Given the description of an element on the screen output the (x, y) to click on. 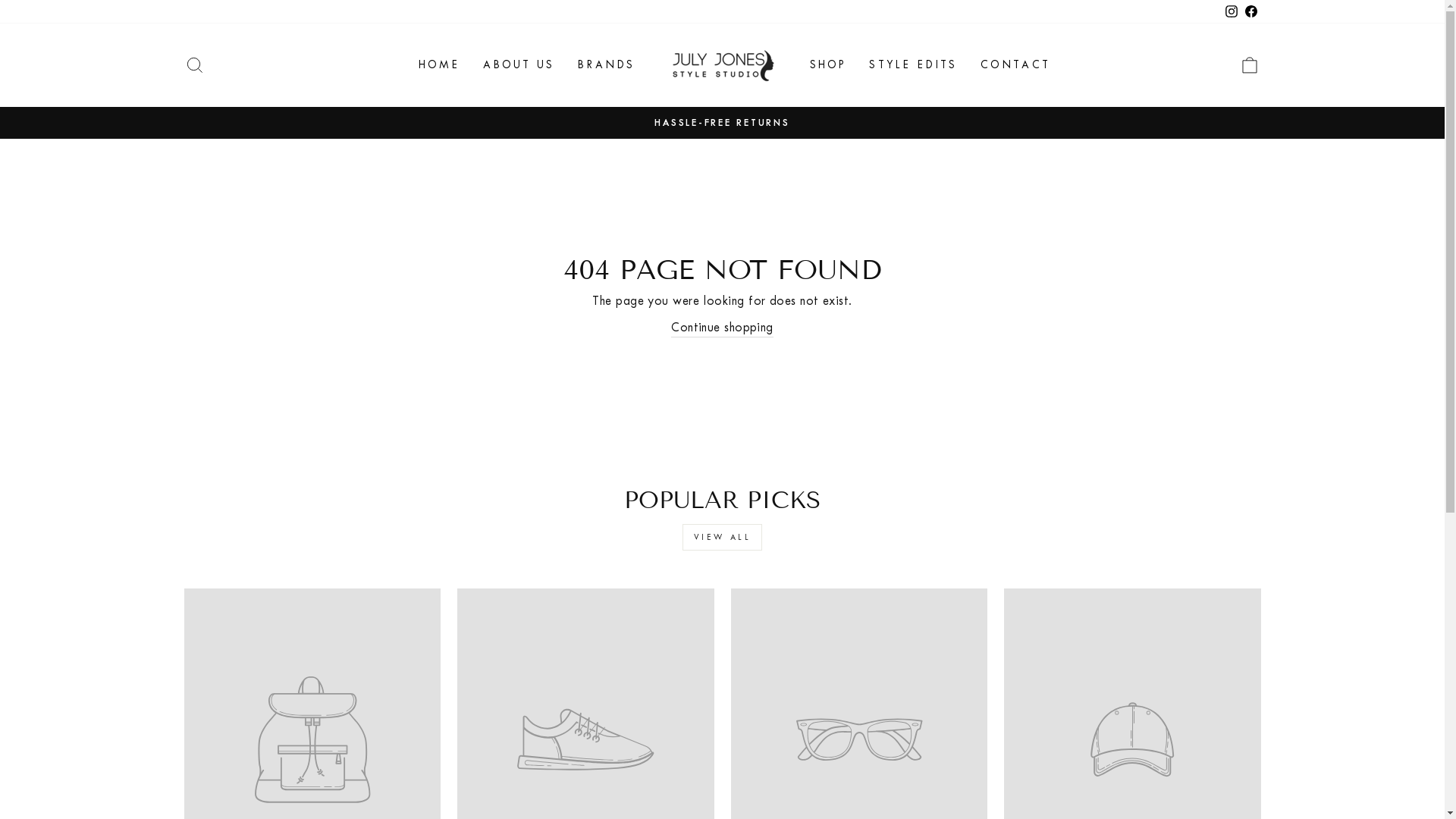
Continue shopping Element type: text (722, 327)
CONTACT Element type: text (1015, 65)
CART Element type: text (1249, 65)
HOME Element type: text (439, 65)
BRANDS Element type: text (605, 65)
Facebook Element type: text (1250, 11)
Skip to content Element type: text (0, 0)
VIEW ALL Element type: text (722, 537)
SHOP Element type: text (827, 65)
SEARCH Element type: text (193, 65)
STYLE EDITS Element type: text (912, 65)
ABOUT US Element type: text (518, 65)
Instagram Element type: text (1230, 11)
